Given the description of an element on the screen output the (x, y) to click on. 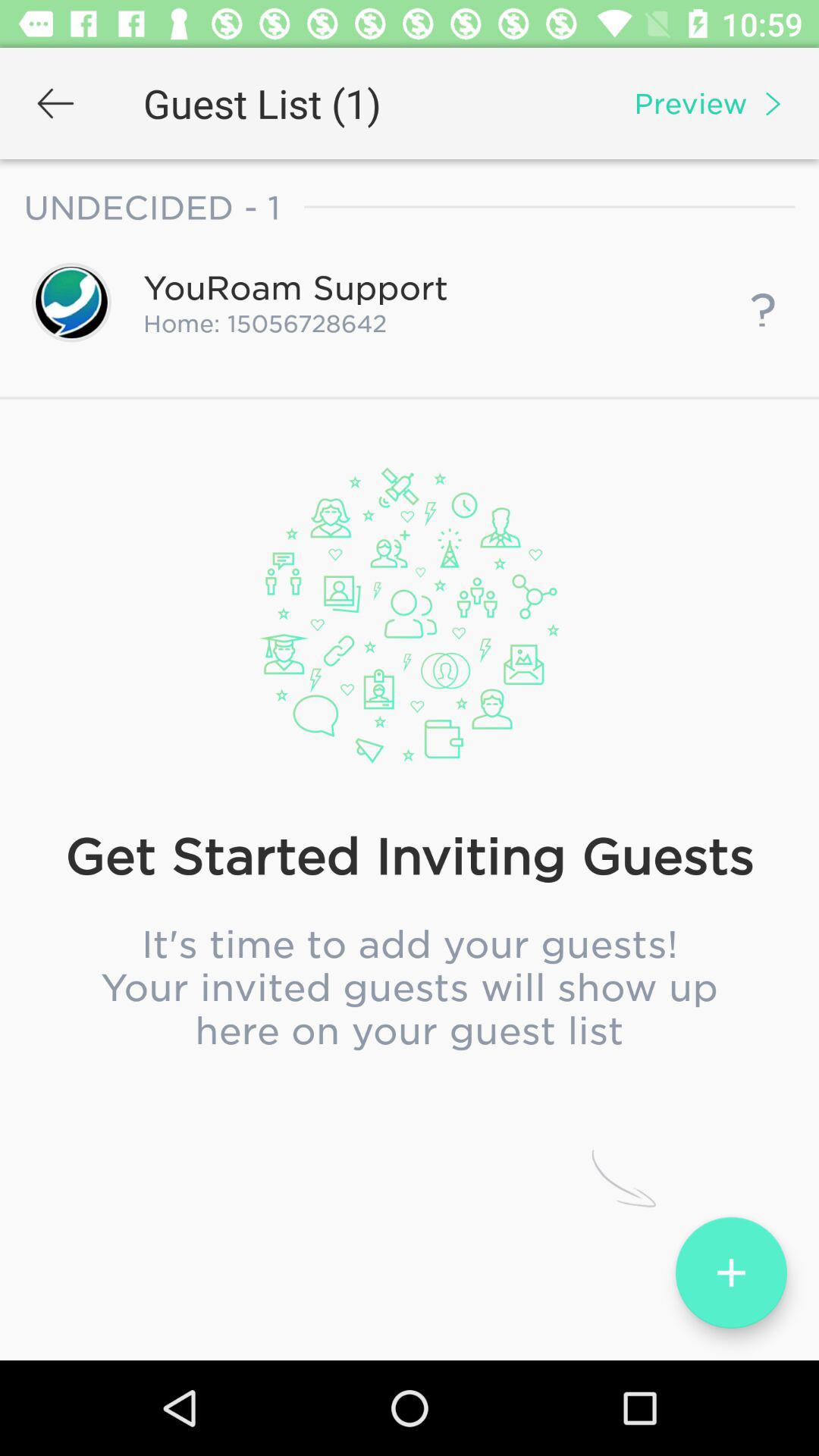
flip until the ? (763, 302)
